Given the description of an element on the screen output the (x, y) to click on. 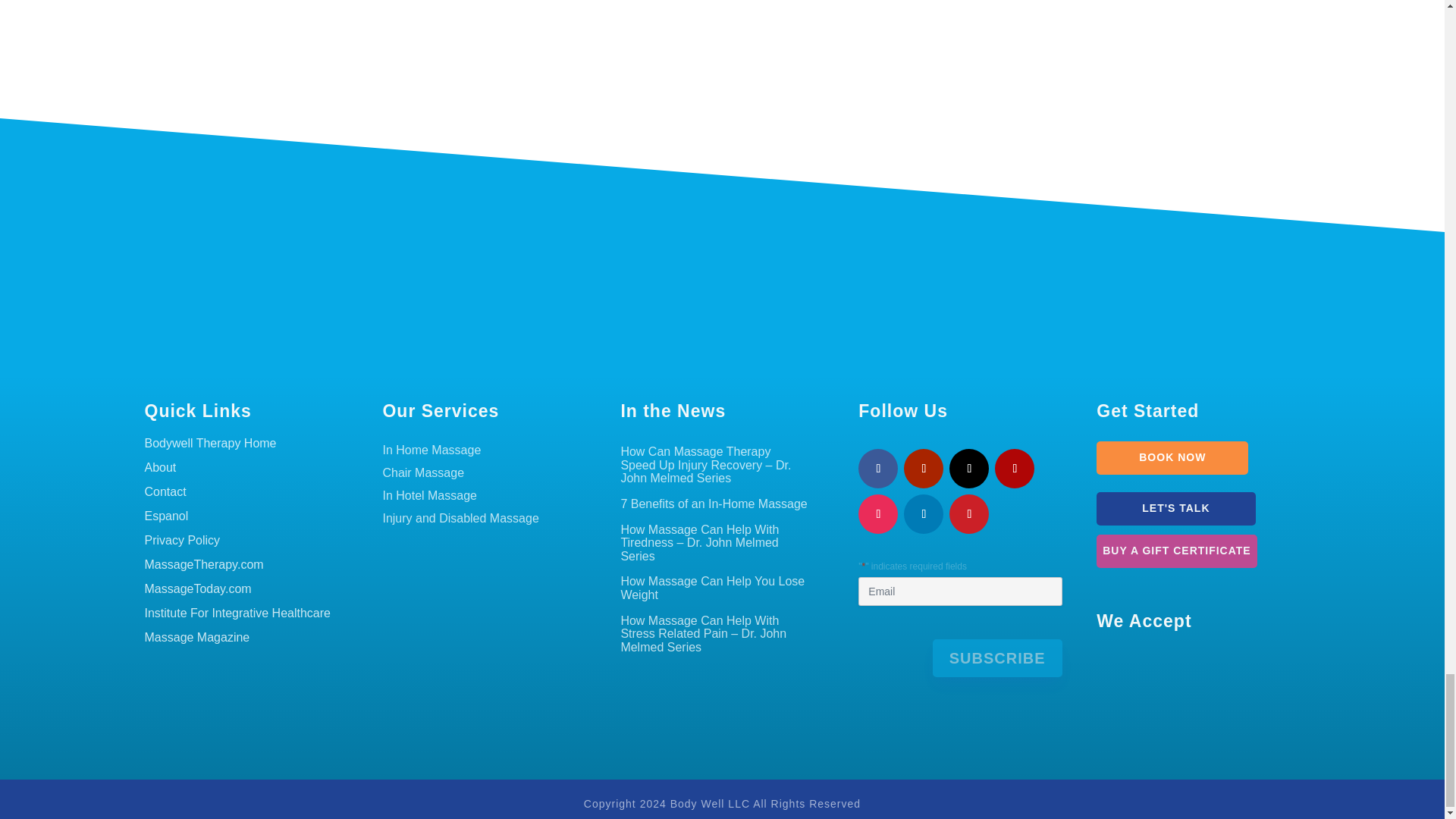
Follow on Facebook (878, 468)
Follow on Yelp (1013, 468)
Follow on X (968, 468)
Follow on Youtube (923, 468)
Follow on Instagram (878, 513)
SUBSCRIBE (997, 658)
